Given the description of an element on the screen output the (x, y) to click on. 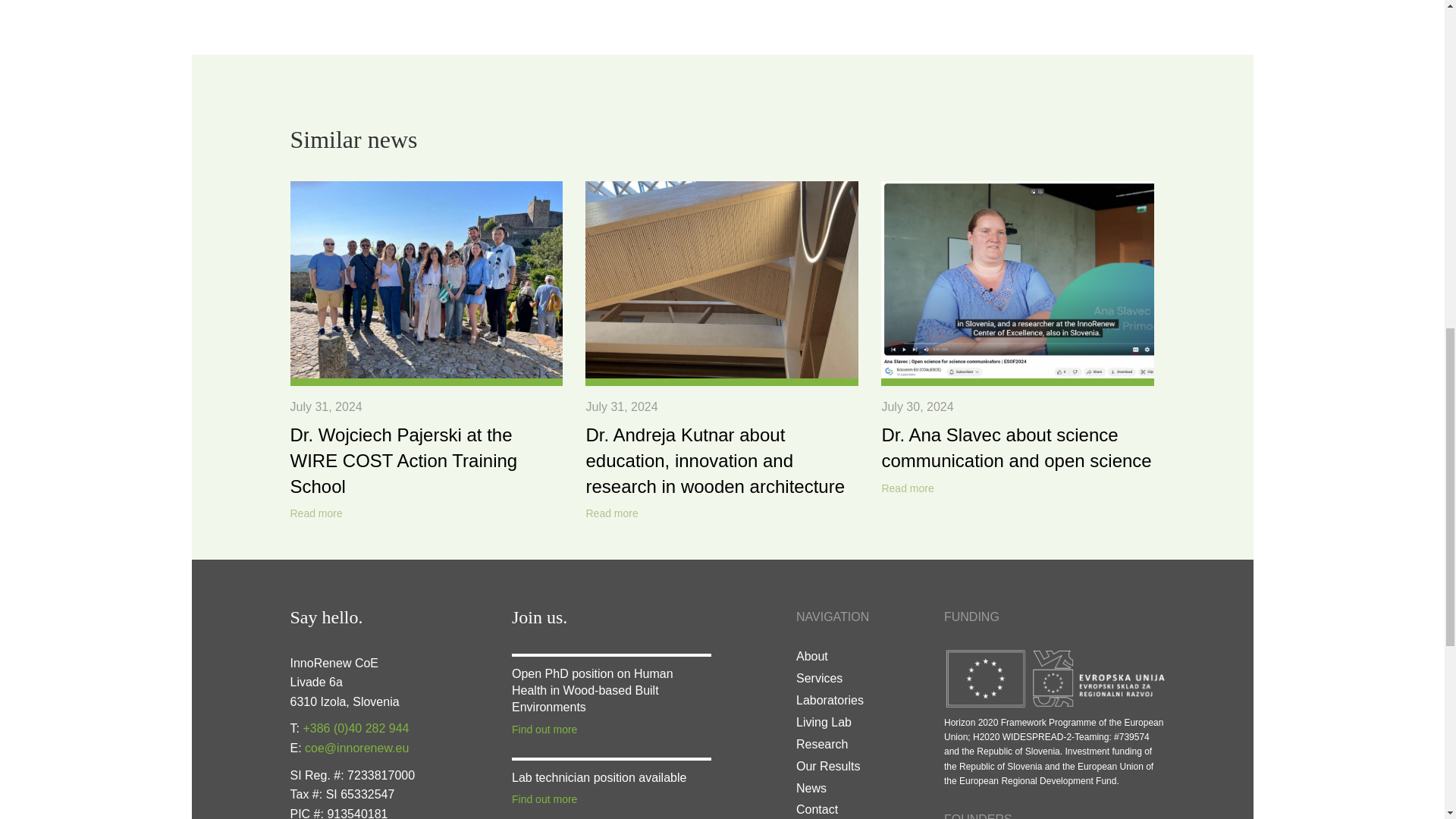
Dr. Ana Slavec about science communication and open science (1015, 447)
Read more (315, 513)
Read more (906, 488)
Read more (611, 513)
